Given the description of an element on the screen output the (x, y) to click on. 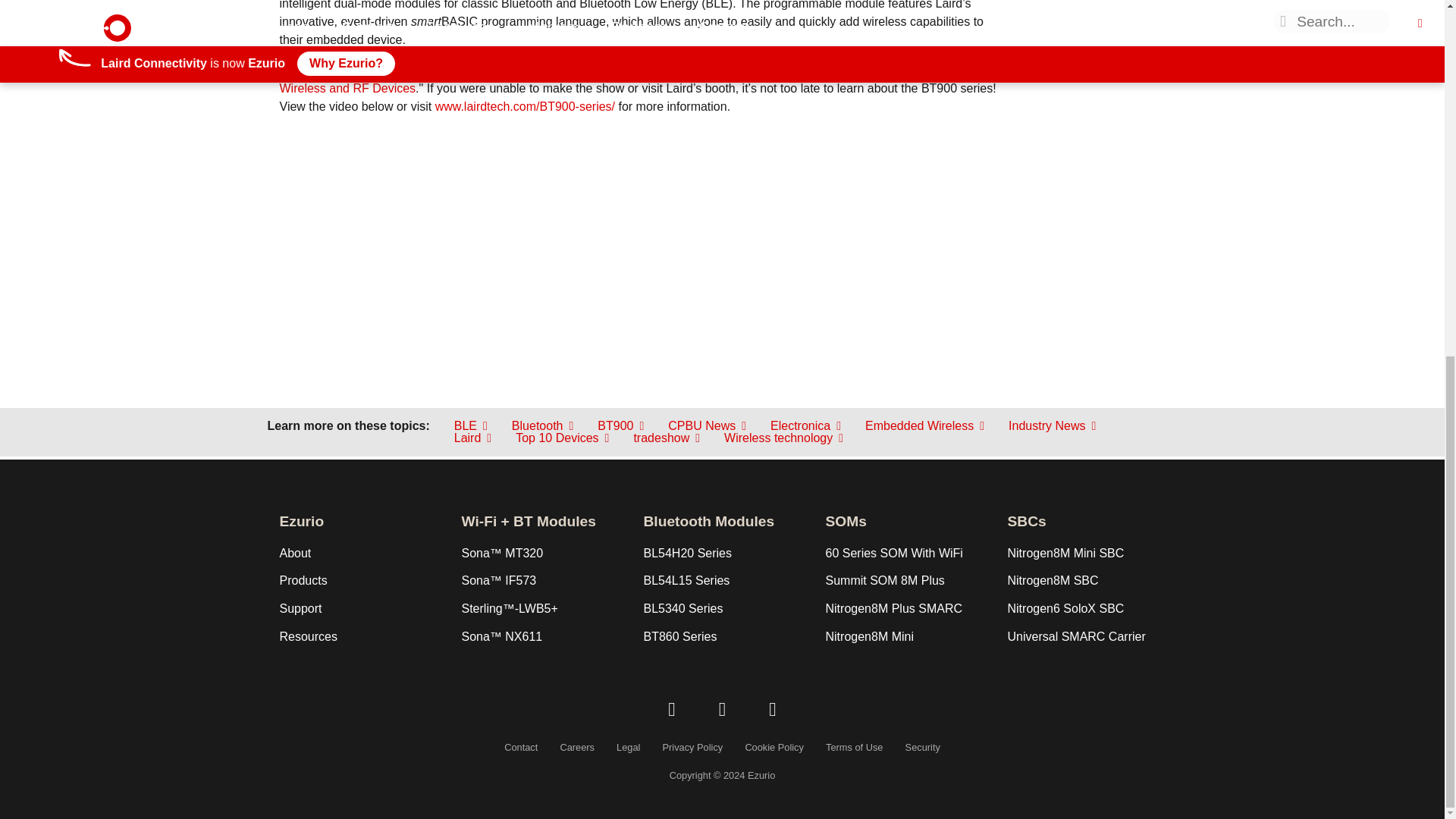
Twitter (721, 709)
YouTube (772, 709)
LinkedIn (671, 709)
Top 10 Picks Best Wireless and RF Devices (633, 79)
